Given the description of an element on the screen output the (x, y) to click on. 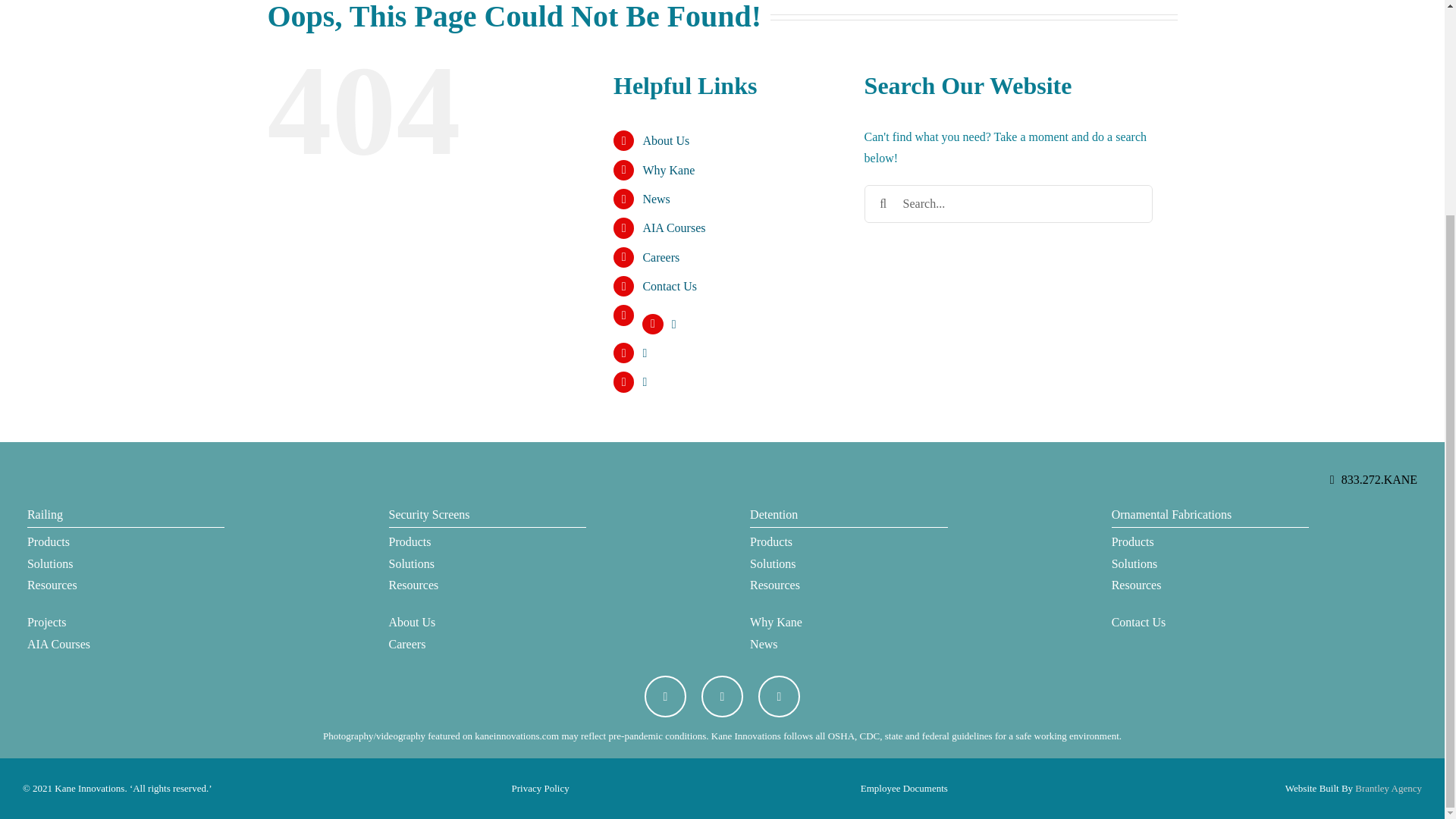
Why Kane (848, 622)
Resources (125, 585)
Contact Us (669, 286)
833.272.KANE (1378, 479)
Careers (660, 256)
About Us (487, 622)
Solutions (125, 564)
Products (125, 542)
News (655, 198)
AIA Courses (673, 227)
